Given the description of an element on the screen output the (x, y) to click on. 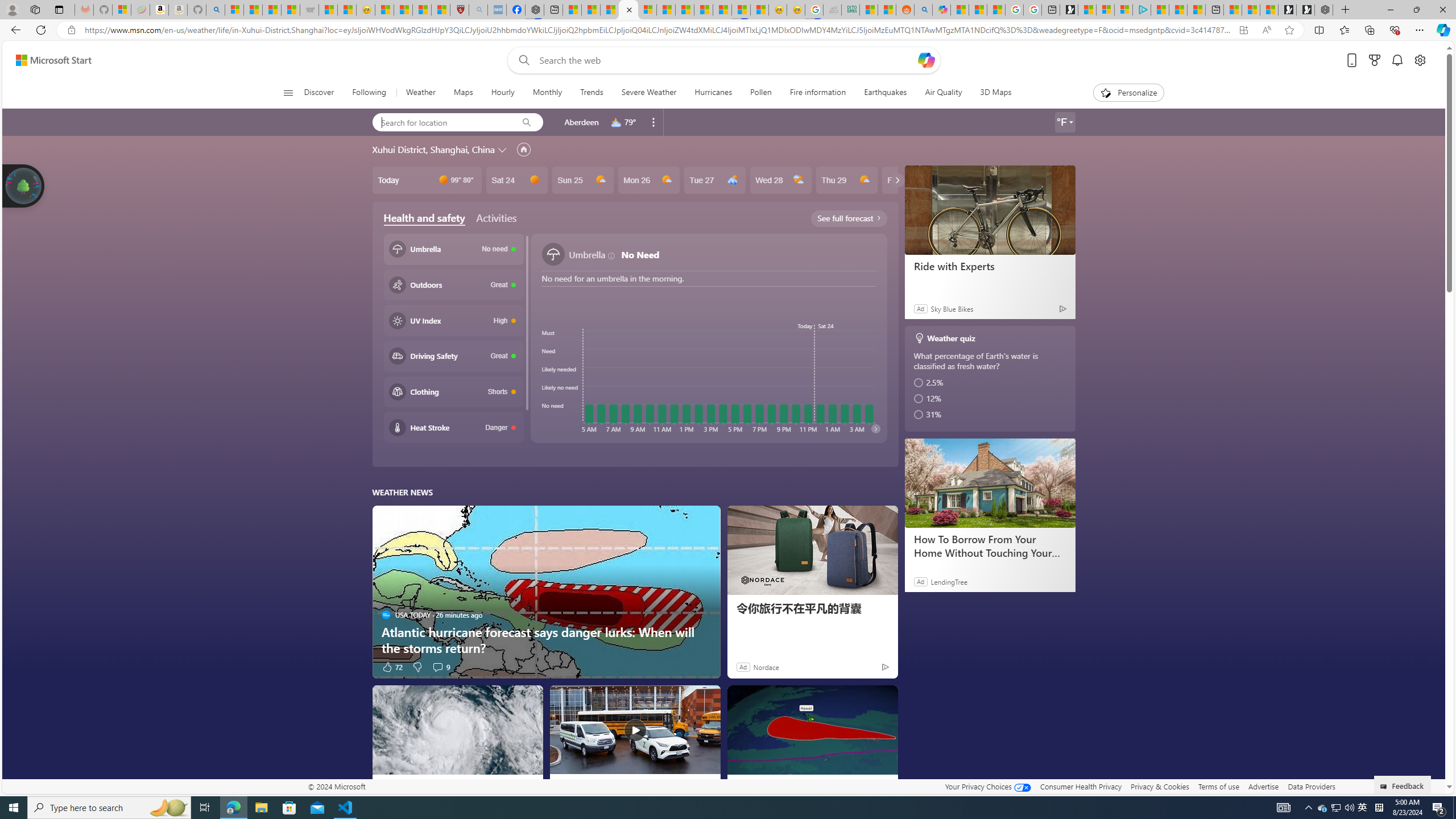
31% (990, 414)
Pollen (760, 92)
3D Maps (995, 92)
Severe Weather (649, 92)
App available. Install Microsoft Start Weather (1243, 29)
